Given the description of an element on the screen output the (x, y) to click on. 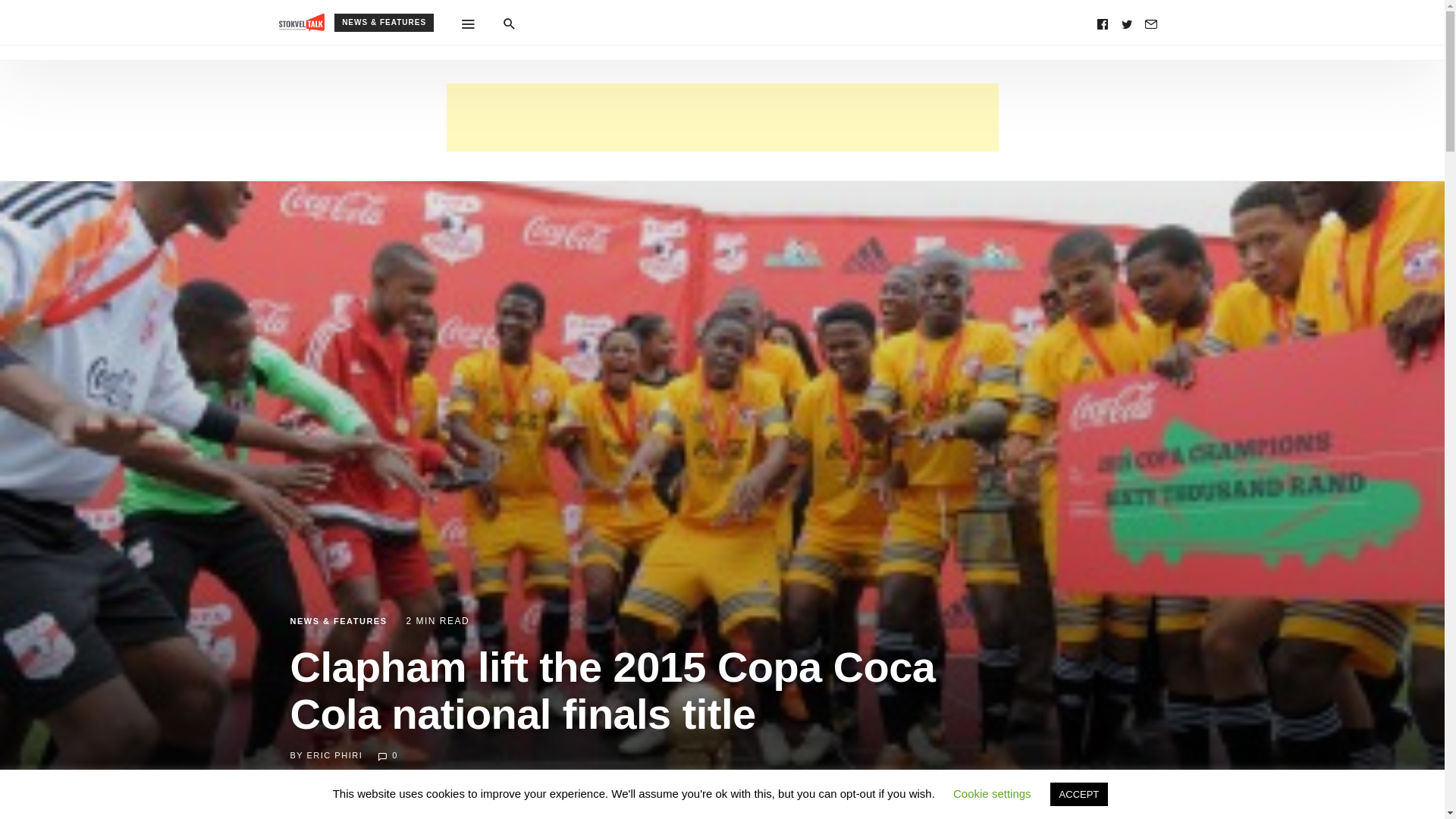
Facebook (1102, 22)
0 (387, 755)
Advertisement (721, 117)
Twitter (1126, 22)
ERIC PHIRI (334, 755)
Email (1150, 22)
